Given the description of an element on the screen output the (x, y) to click on. 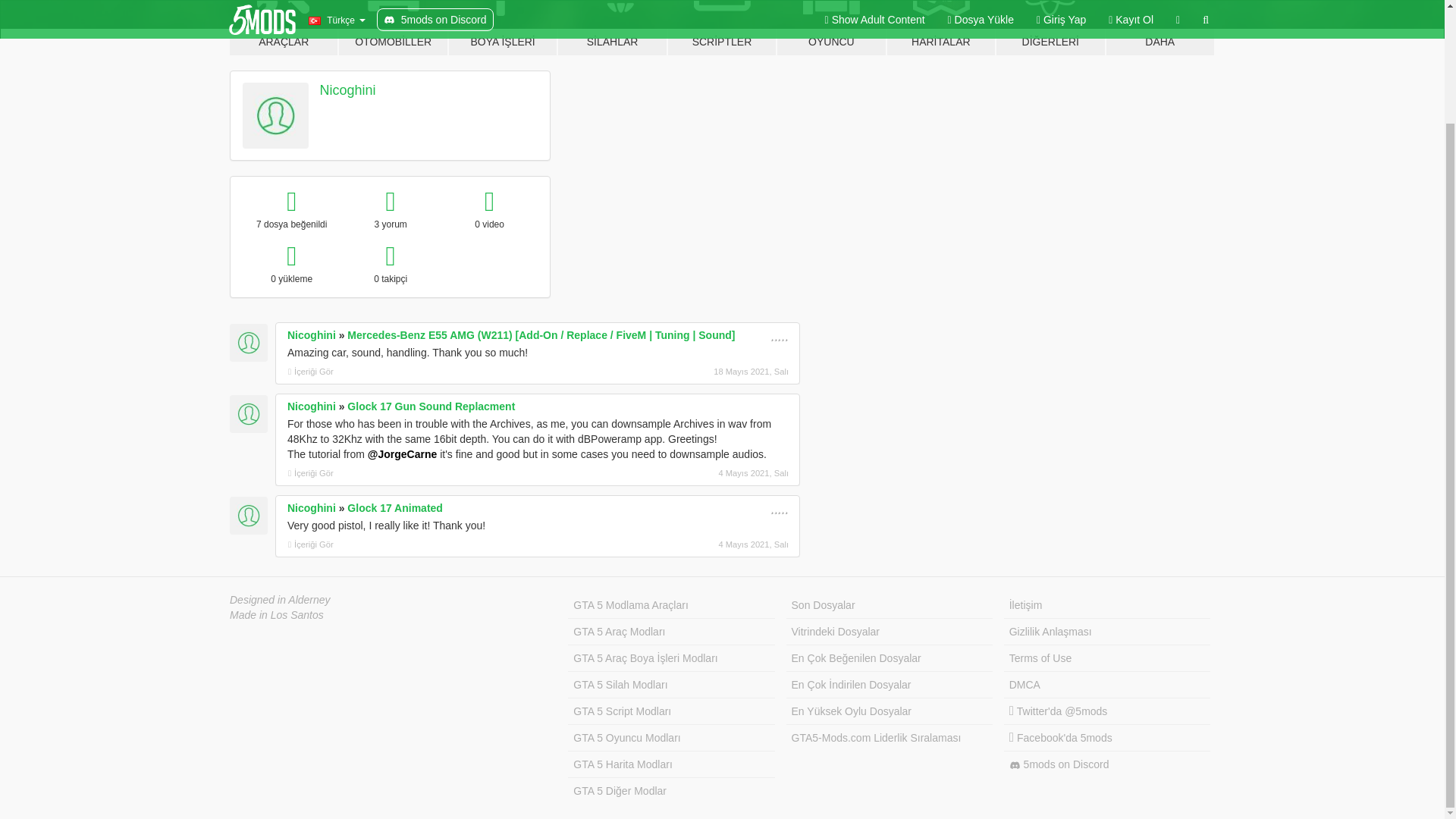
Sal 18.May.21 03:08 (708, 371)
Sal 04.May.21 06:44 (708, 472)
5mods on Discord (1106, 764)
Facebook'da 5mods (1106, 737)
Sal 04.May.21 02:26 (708, 544)
